Given the description of an element on the screen output the (x, y) to click on. 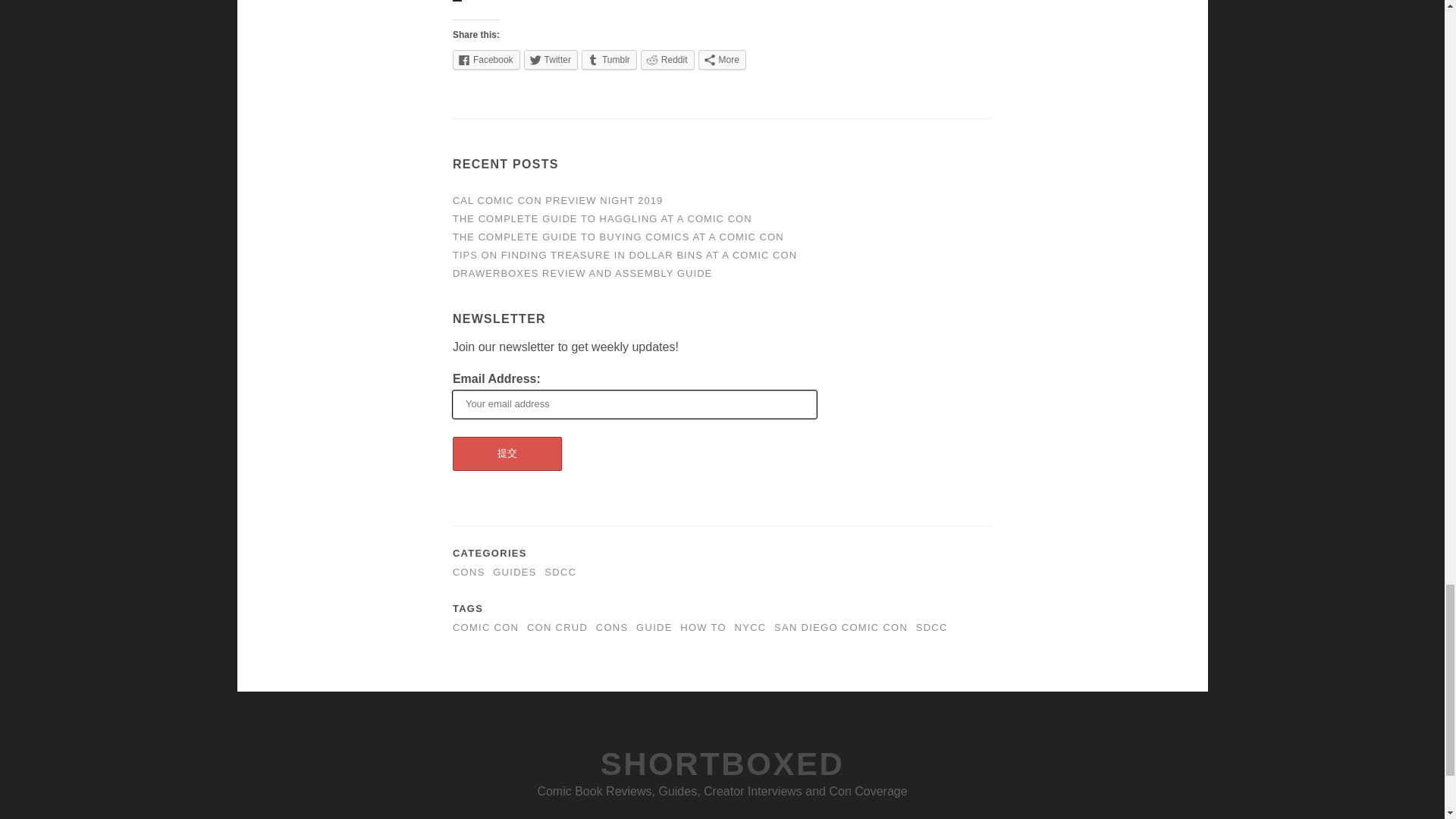
Reddit (667, 59)
Facebook (485, 59)
Click to share on Tumblr (608, 59)
Click to share on Facebook (485, 59)
Click to share on Reddit (667, 59)
COMIC CON (485, 627)
THE COMPLETE GUIDE TO HAGGLING AT A COMIC CON (602, 218)
SDCC (560, 572)
DRAWERBOXES REVIEW AND ASSEMBLY GUIDE (581, 273)
GUIDES (515, 572)
Click to share on Twitter (551, 59)
View all posts in Cons (468, 572)
CONS (468, 572)
Twitter (551, 59)
TIPS ON FINDING TREASURE IN DOLLAR BINS AT A COMIC CON (624, 255)
